Given the description of an element on the screen output the (x, y) to click on. 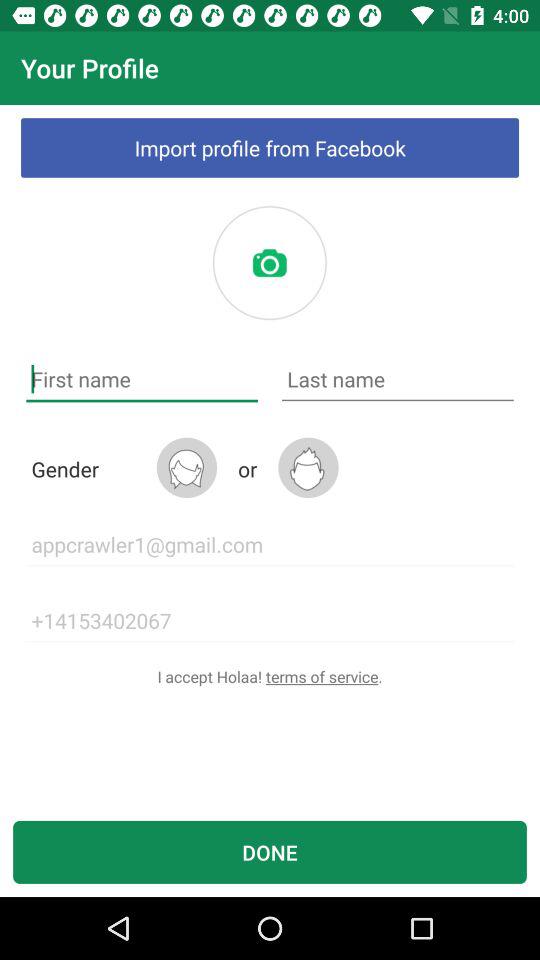
turn on the icon below the or item (270, 544)
